Given the description of an element on the screen output the (x, y) to click on. 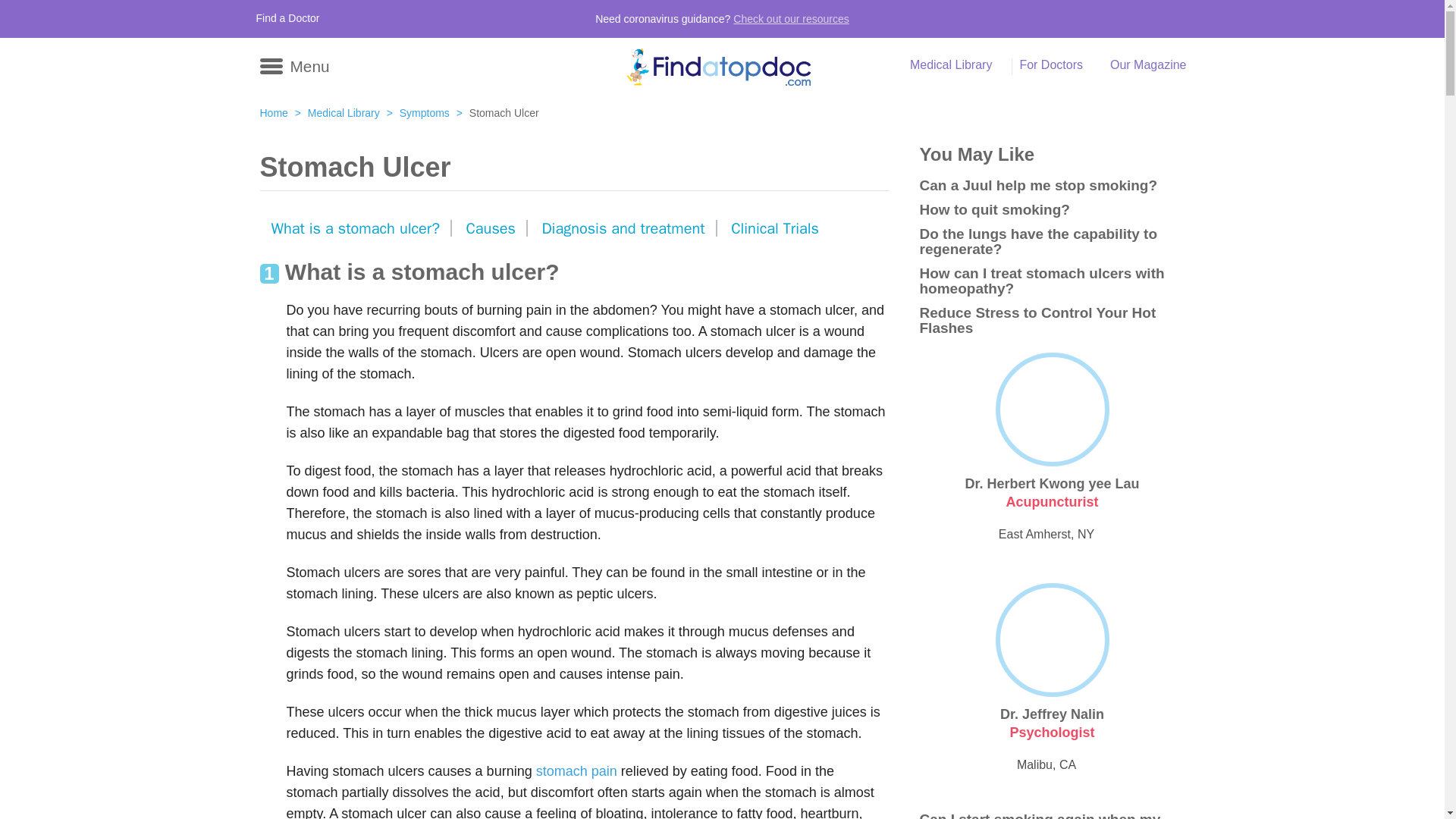
Diagnosis and treatment (622, 228)
Menu (294, 63)
What is a stomach ulcer? (354, 228)
Clinical Trials (774, 228)
Causes (490, 228)
Find a Doctor (287, 18)
Check out our resources (790, 19)
